Given the description of an element on the screen output the (x, y) to click on. 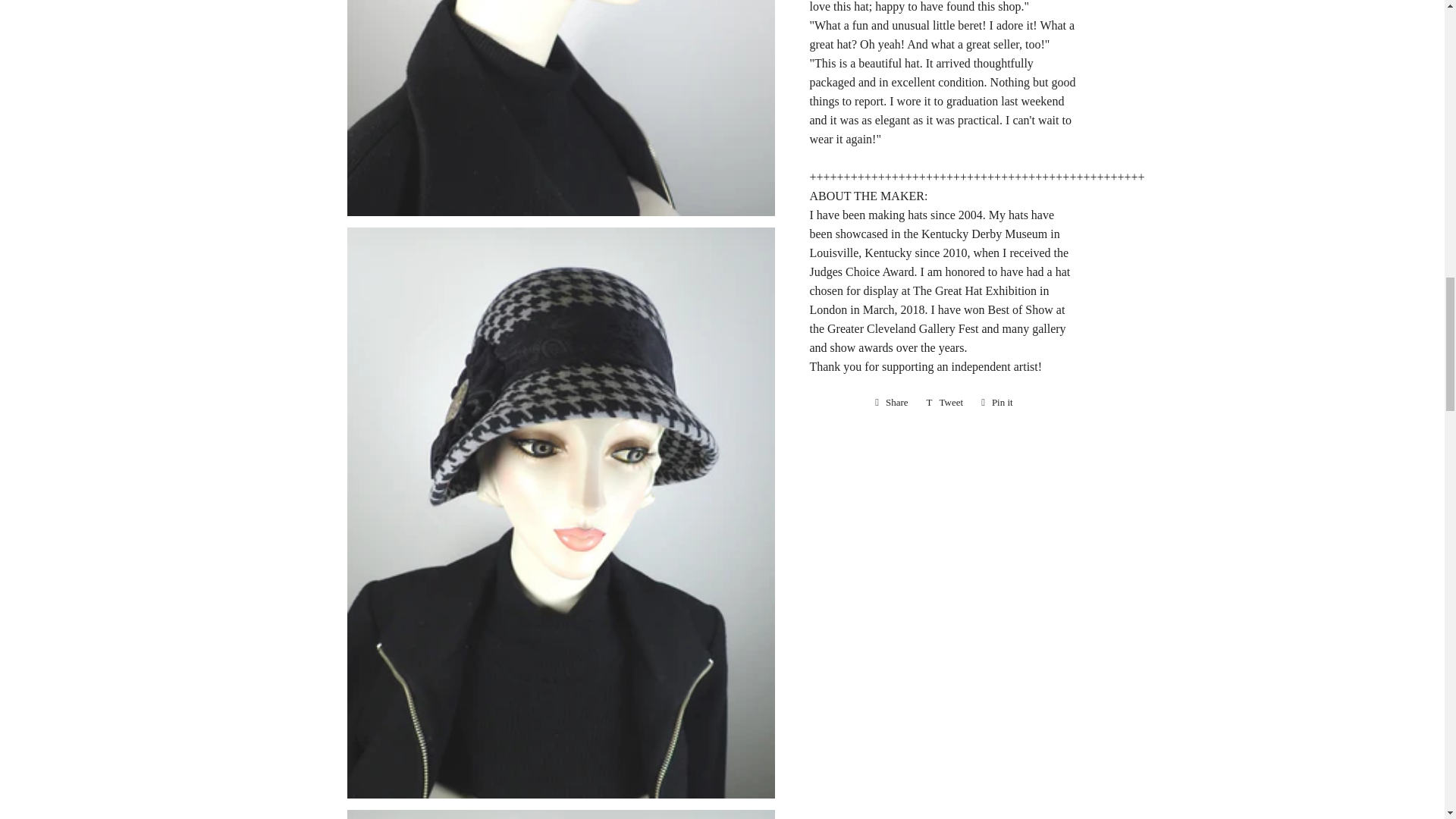
Tweet on Twitter (944, 402)
Pin on Pinterest (997, 402)
Share on Facebook (891, 402)
